Given the description of an element on the screen output the (x, y) to click on. 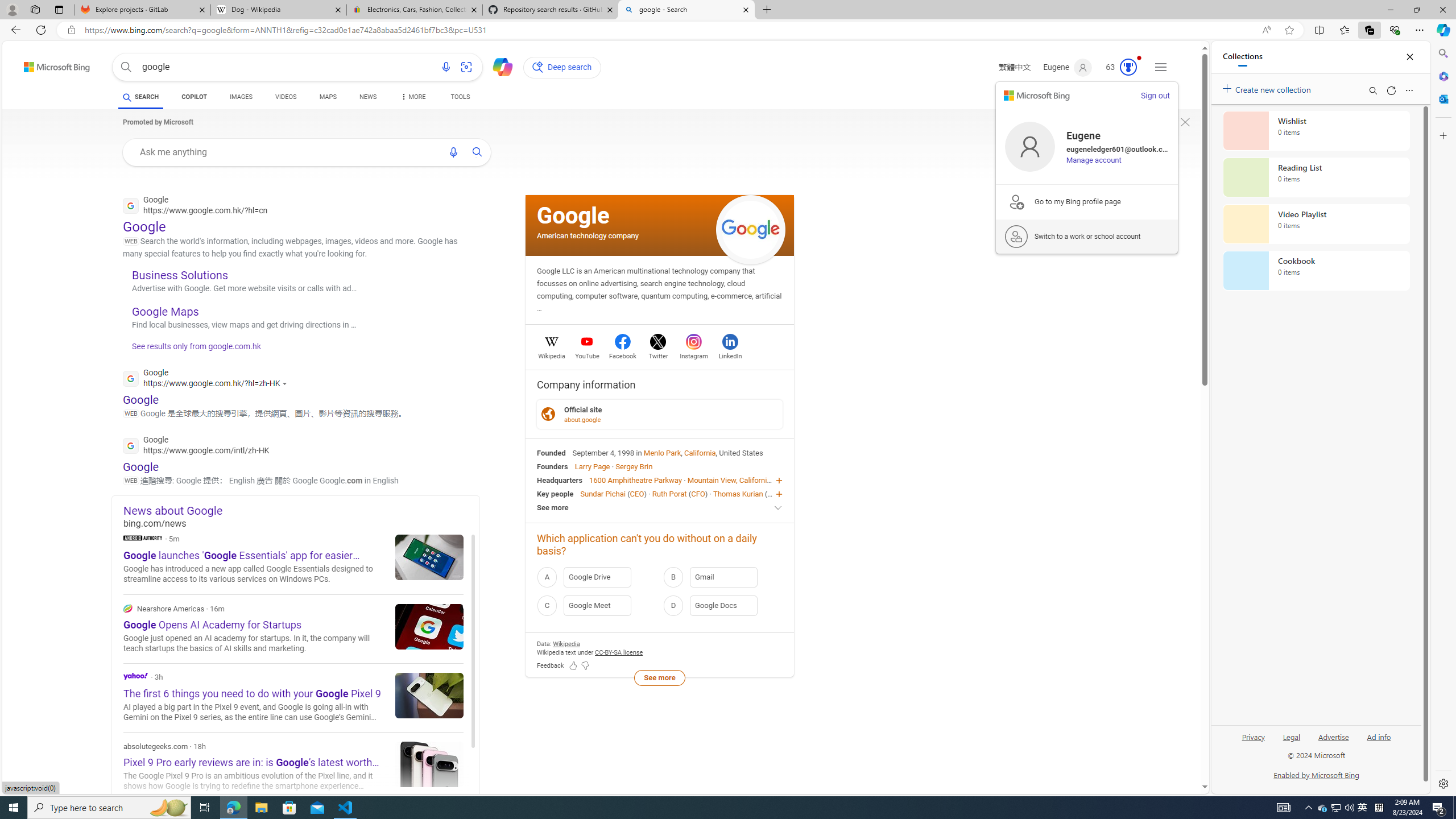
D Google Docs (722, 605)
Video Playlist collection, 0 items (1316, 223)
AutomationID: rh_meter (1128, 66)
Animation (1139, 57)
Google Maps (165, 311)
Feedback Dislike (584, 665)
Profile Picture (1029, 146)
